Given the description of an element on the screen output the (x, y) to click on. 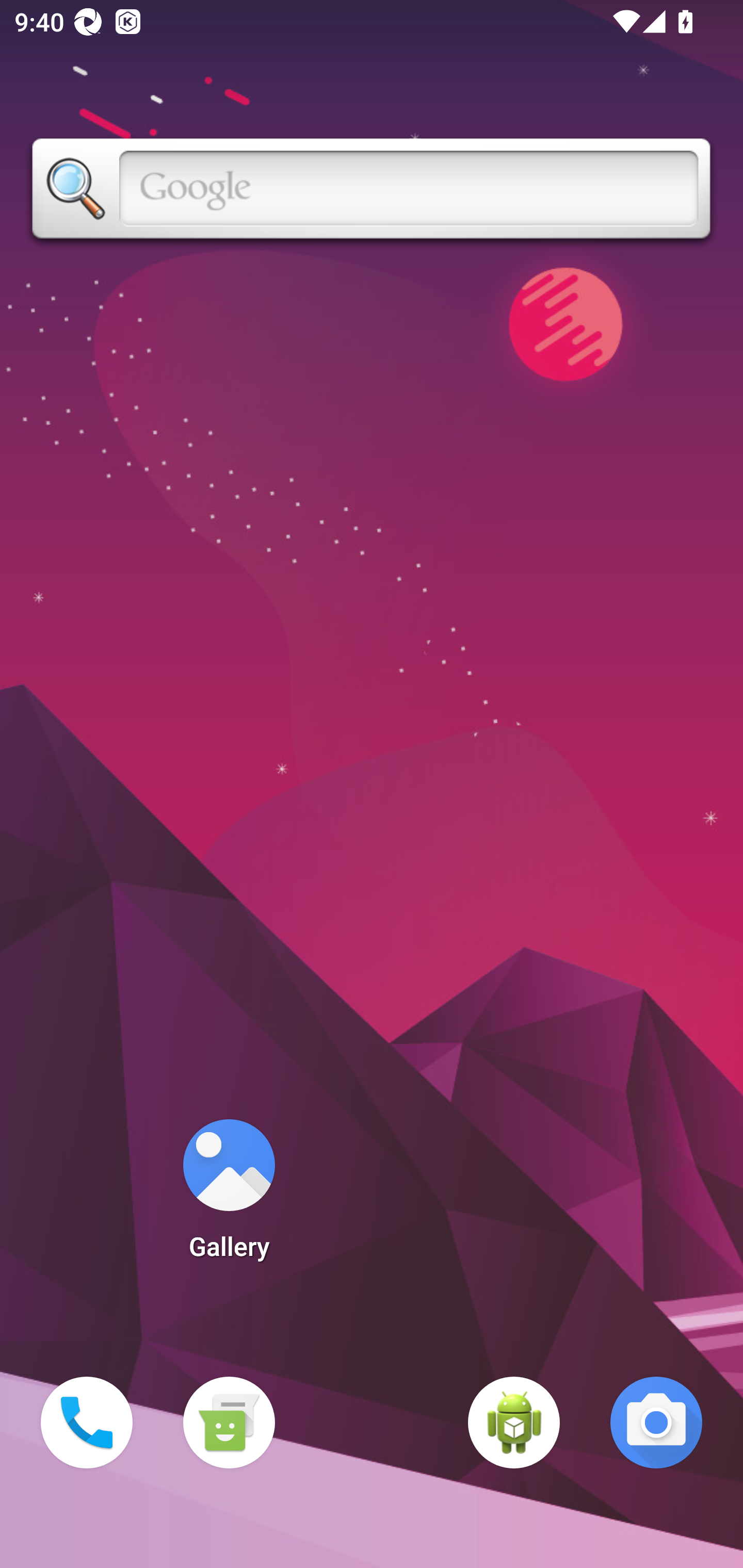
Gallery (228, 1195)
Phone (86, 1422)
Messaging (228, 1422)
WebView Browser Tester (513, 1422)
Camera (656, 1422)
